Given the description of an element on the screen output the (x, y) to click on. 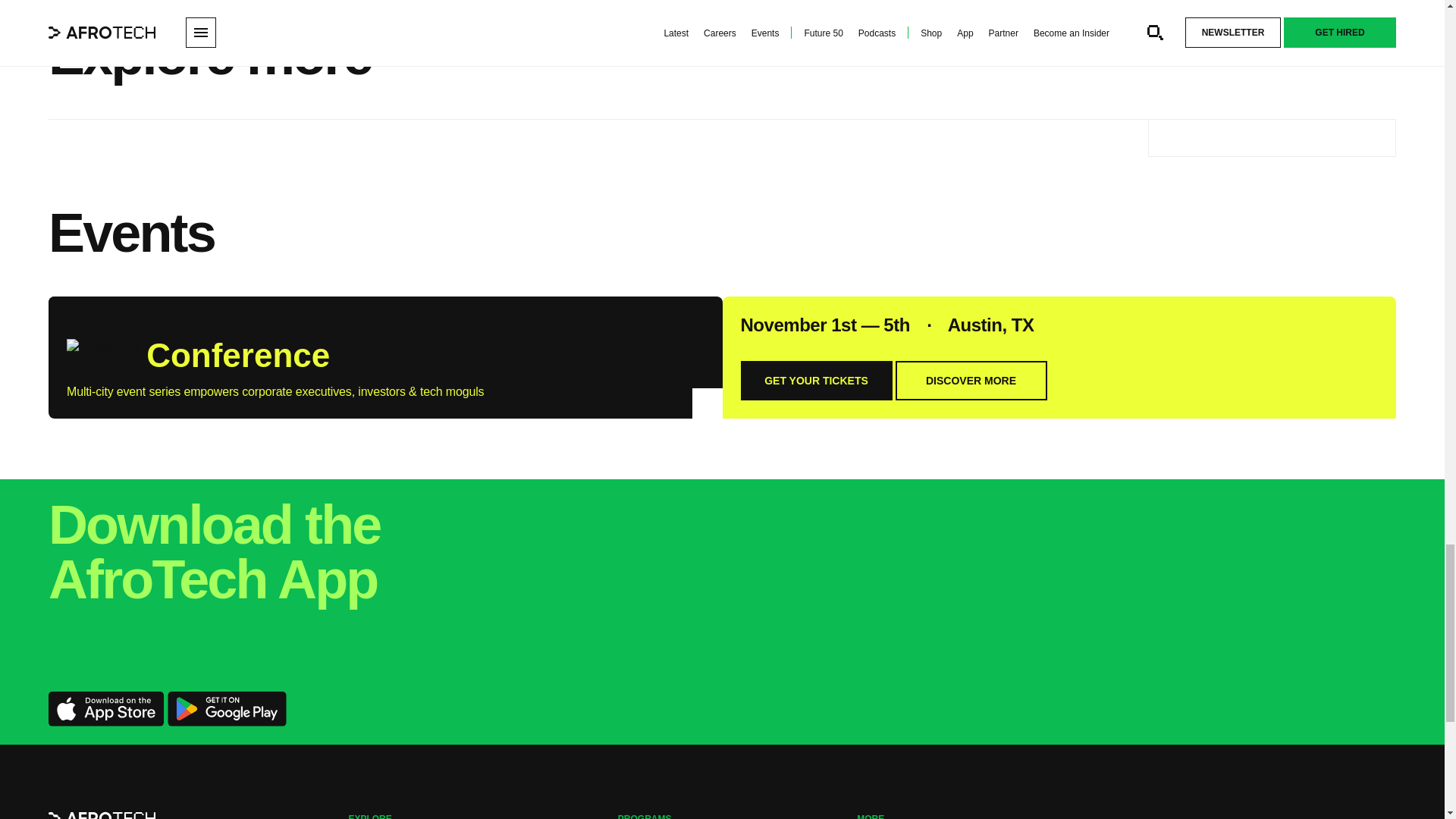
conference (102, 352)
